Given the description of an element on the screen output the (x, y) to click on. 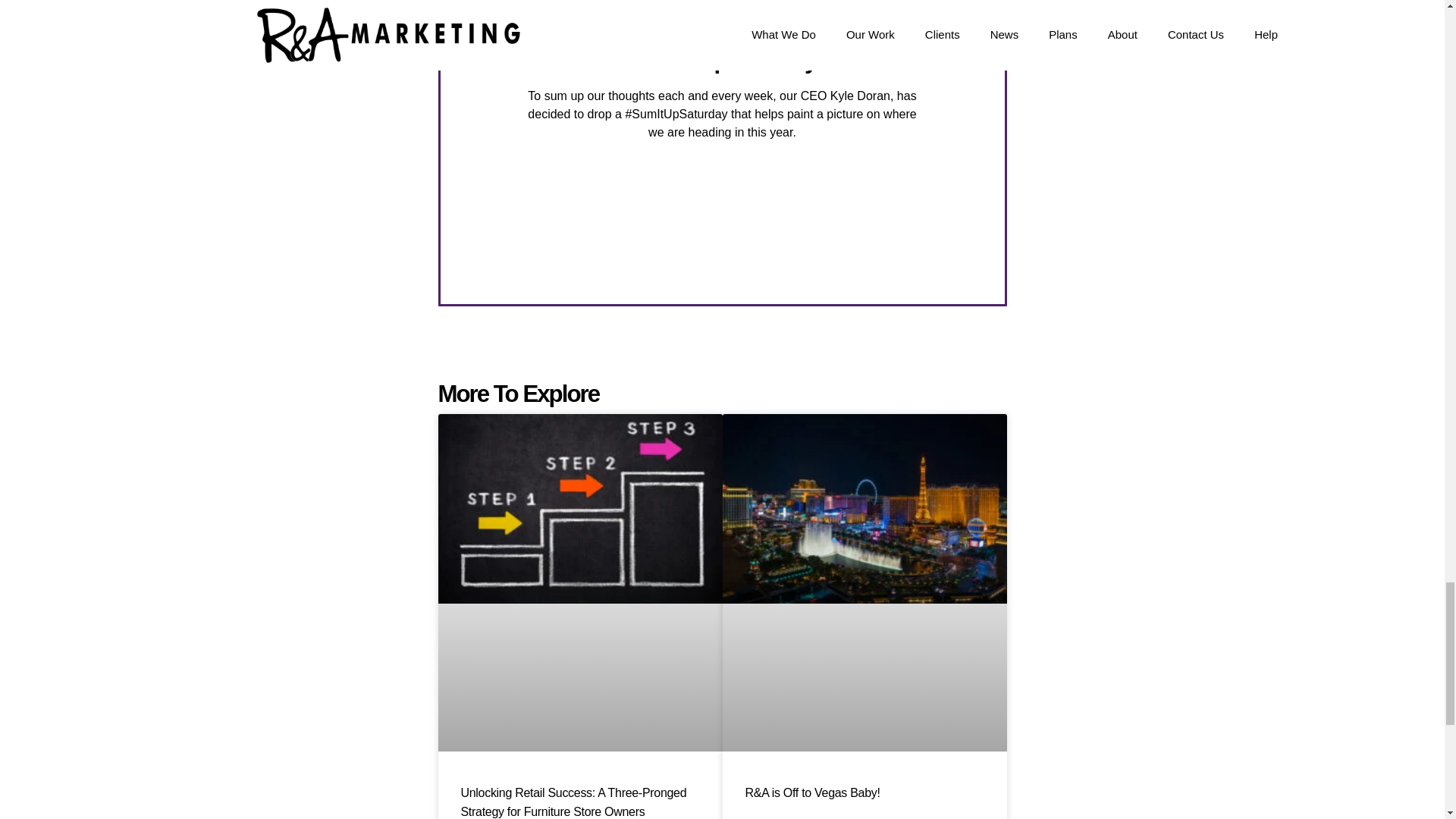
Form 0 (722, 224)
